Given the description of an element on the screen output the (x, y) to click on. 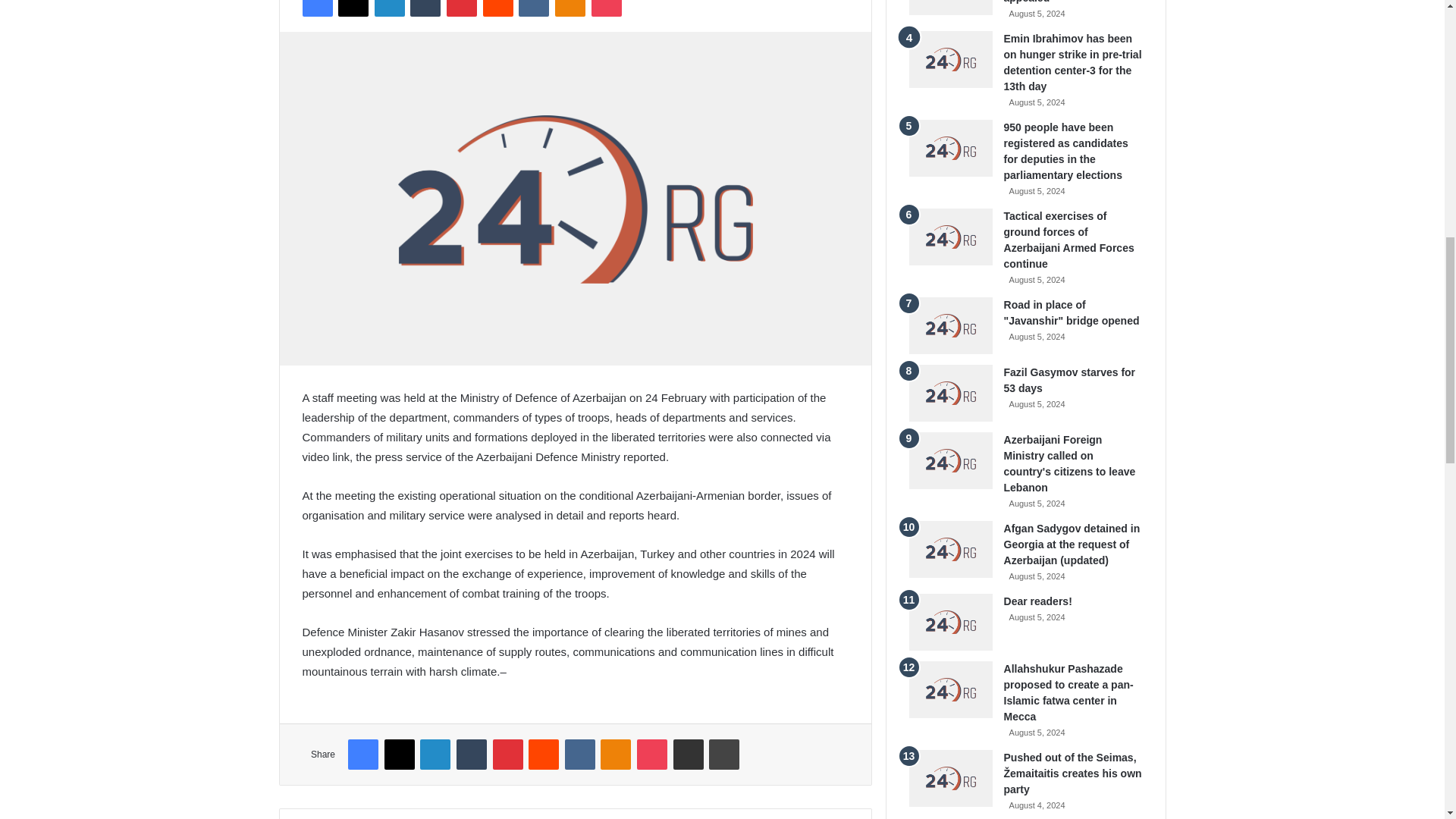
X (352, 8)
LinkedIn (389, 8)
Tumblr (425, 8)
Reddit (498, 8)
Pinterest (461, 8)
Odnoklassniki (569, 8)
Pocket (606, 8)
VKontakte (533, 8)
Facebook (316, 8)
